Given the description of an element on the screen output the (x, y) to click on. 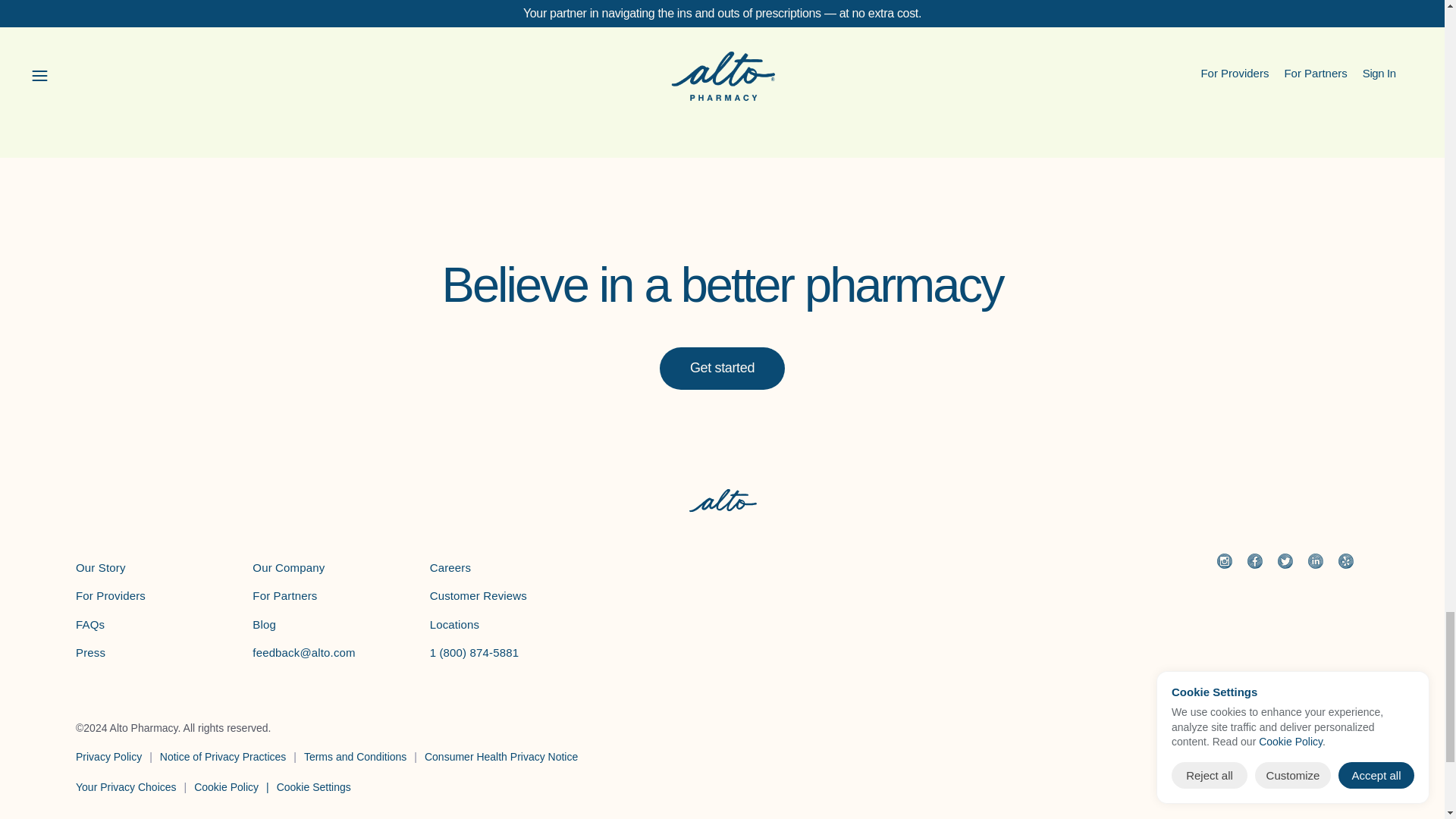
For Partners (284, 594)
Notice of Privacy Practices (223, 756)
FAQs (89, 624)
Careers (449, 567)
Your Privacy Choices (125, 787)
Our Story (100, 567)
Get started (721, 368)
Locations (454, 624)
Consumer Health Privacy Notice (721, 40)
Customer Reviews (501, 756)
Blog (478, 594)
Terms and Conditions (263, 624)
For Providers (355, 756)
